Given the description of an element on the screen output the (x, y) to click on. 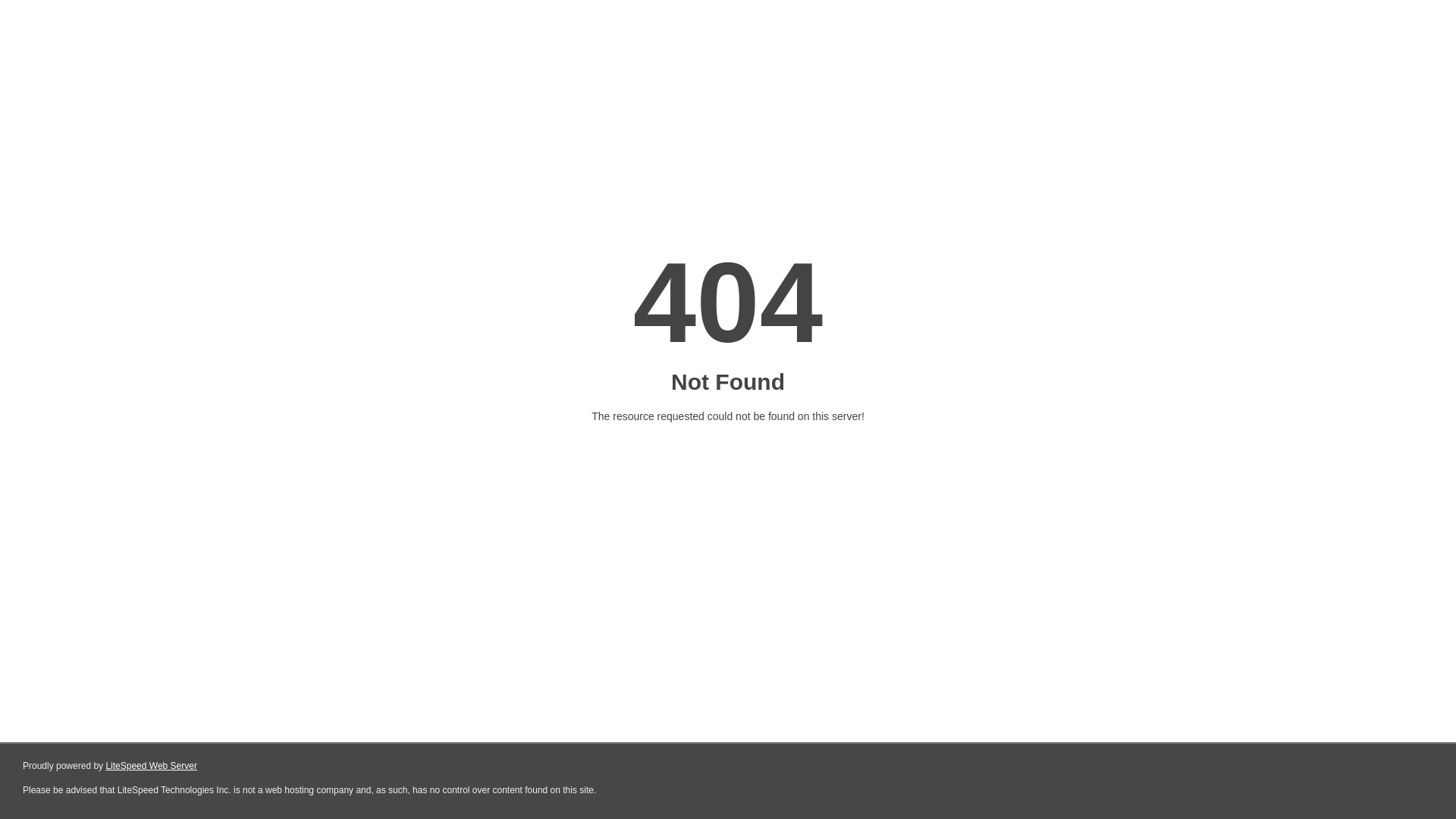
LiteSpeed Web Server Element type: text (151, 765)
